Given the description of an element on the screen output the (x, y) to click on. 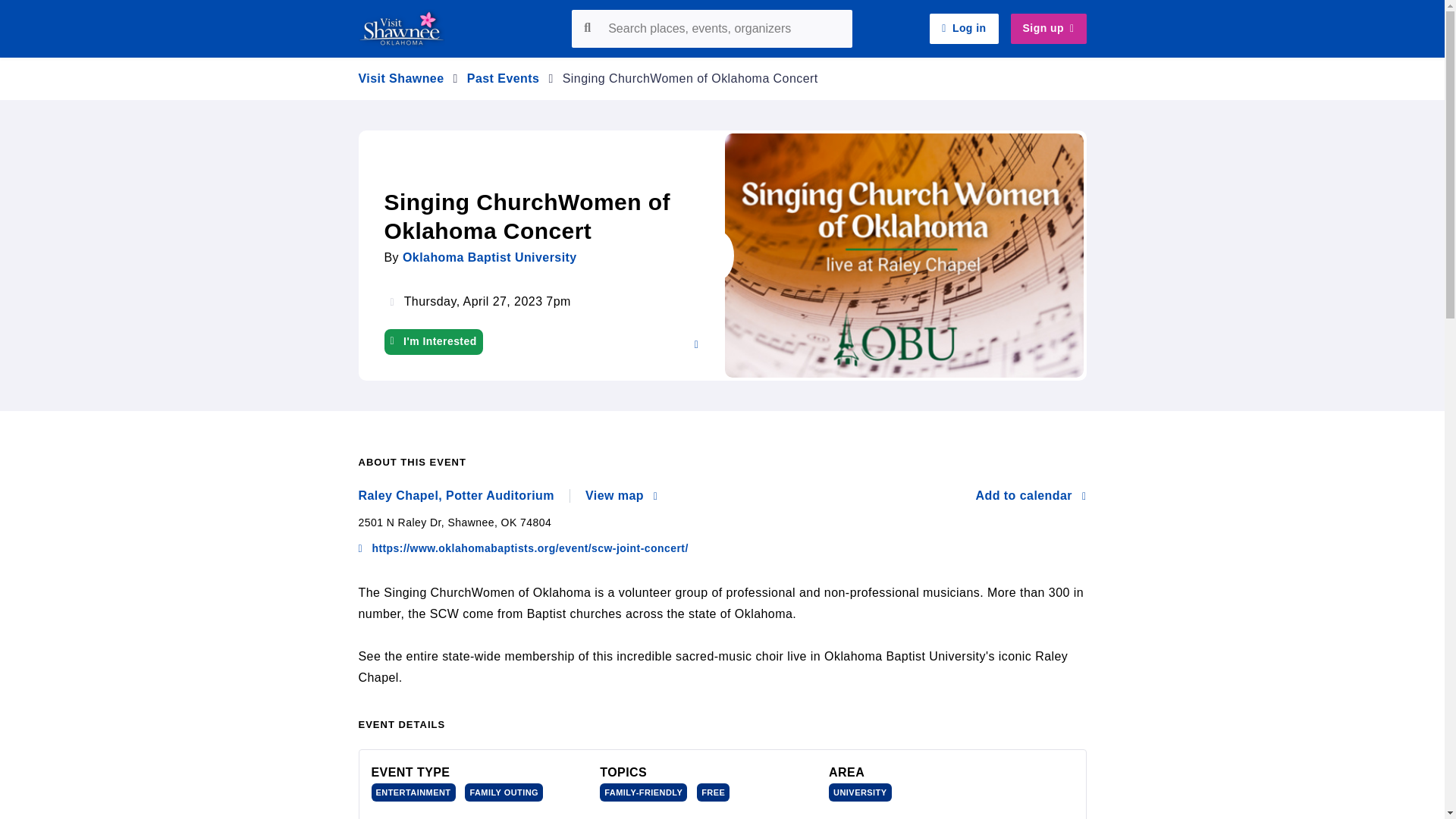
ENTERTAINMENT (413, 791)
Log in (963, 28)
I'm Interested (432, 341)
FAMILY OUTING (503, 791)
View map (621, 495)
Visit Shawnee (401, 78)
UNIVERSITY (859, 791)
Raley Chapel, Potter Auditorium (463, 495)
Add to calendar (1030, 495)
FREE (713, 791)
